Given the description of an element on the screen output the (x, y) to click on. 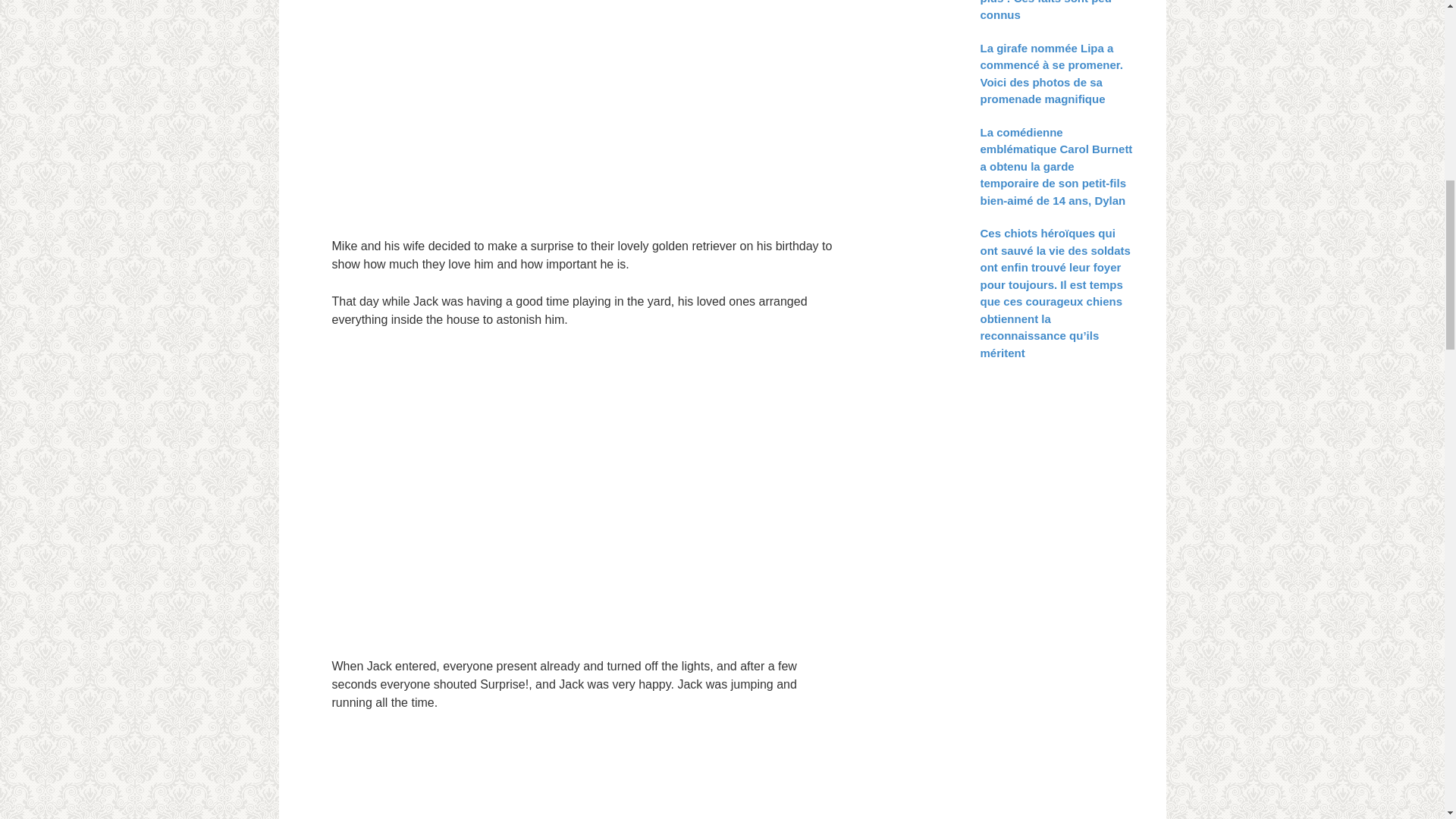
Advertisement (585, 111)
Advertisement (585, 775)
